Given the description of an element on the screen output the (x, y) to click on. 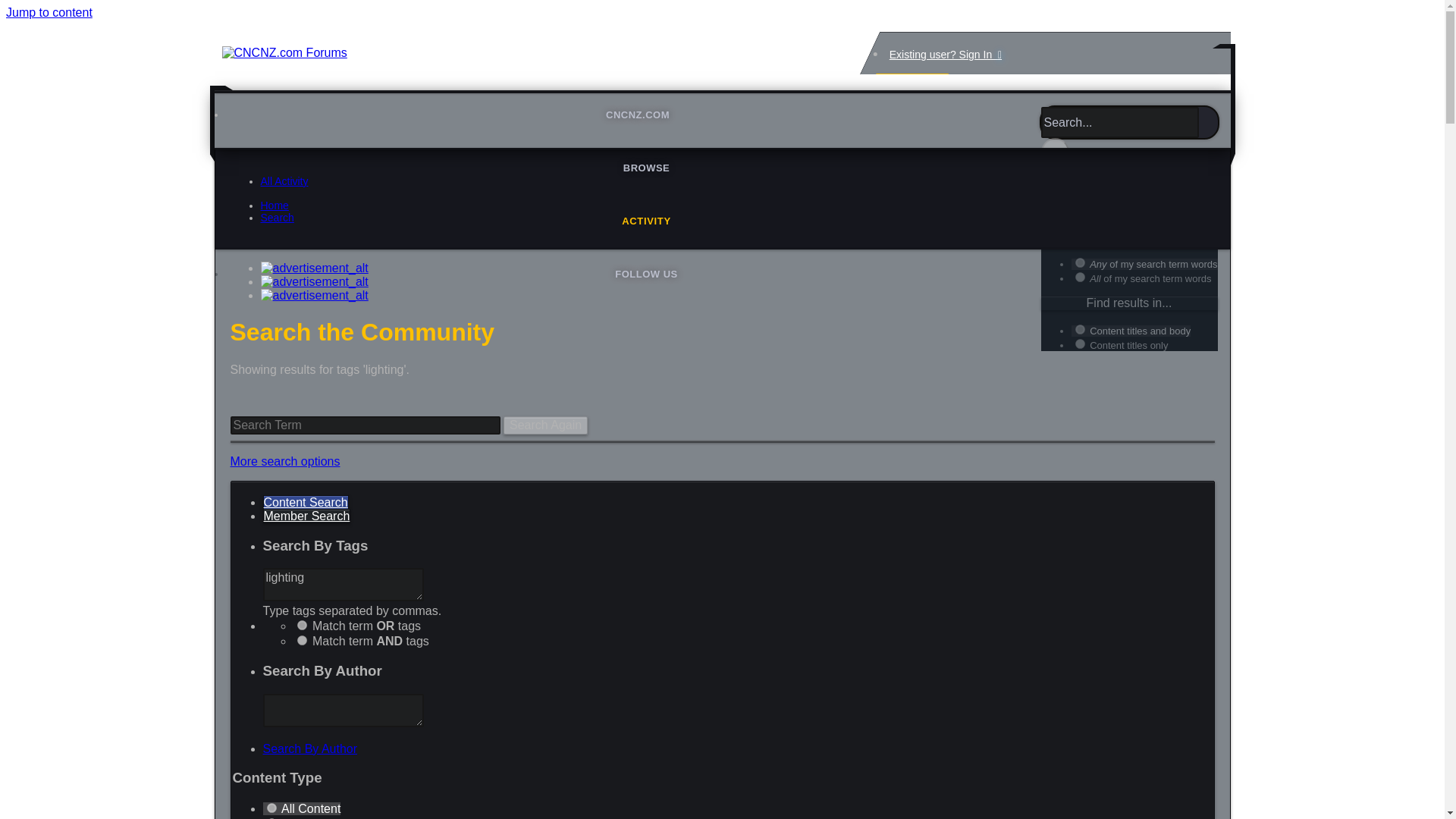
Jump to content (49, 11)
BROWSE (646, 167)
Go to main content on this page (49, 11)
ACTIVITY (646, 220)
or (1079, 262)
Home (274, 205)
and (1079, 276)
usernamepassword (941, 556)
titles (1079, 343)
FOLLOW US (646, 273)
all (1079, 198)
Search in our content (304, 502)
Search our members (306, 515)
and (302, 640)
all (1079, 329)
